Given the description of an element on the screen output the (x, y) to click on. 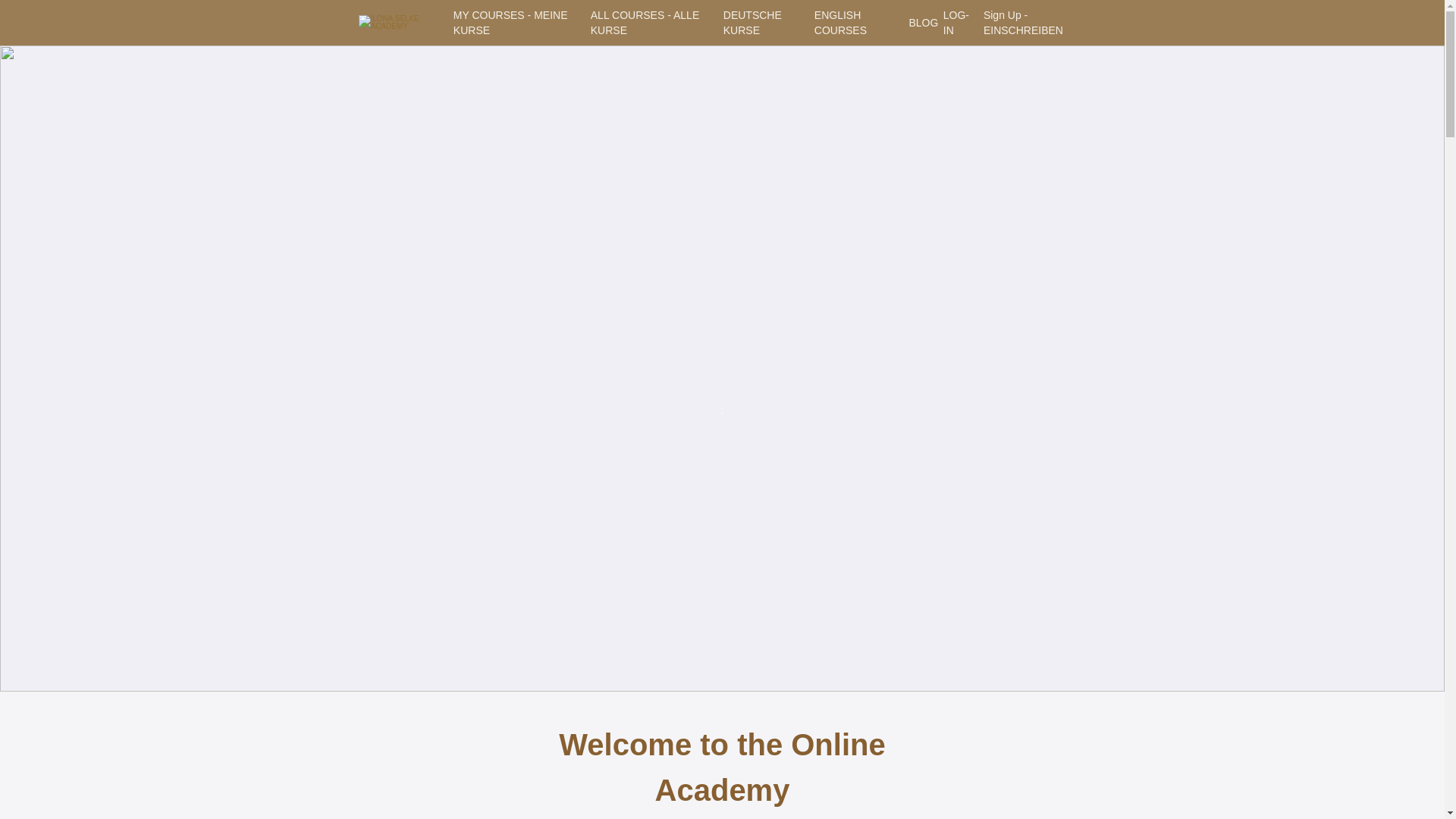
ALL COURSES - ALLE KURSE (651, 22)
DEUTSCHE KURSE (762, 22)
BLOG (919, 22)
MY COURSES - MEINE KURSE (515, 22)
Sign Up - EINSCHREIBEN (1035, 22)
ENGLISH COURSES (854, 22)
LOG-IN (957, 22)
